Given the description of an element on the screen output the (x, y) to click on. 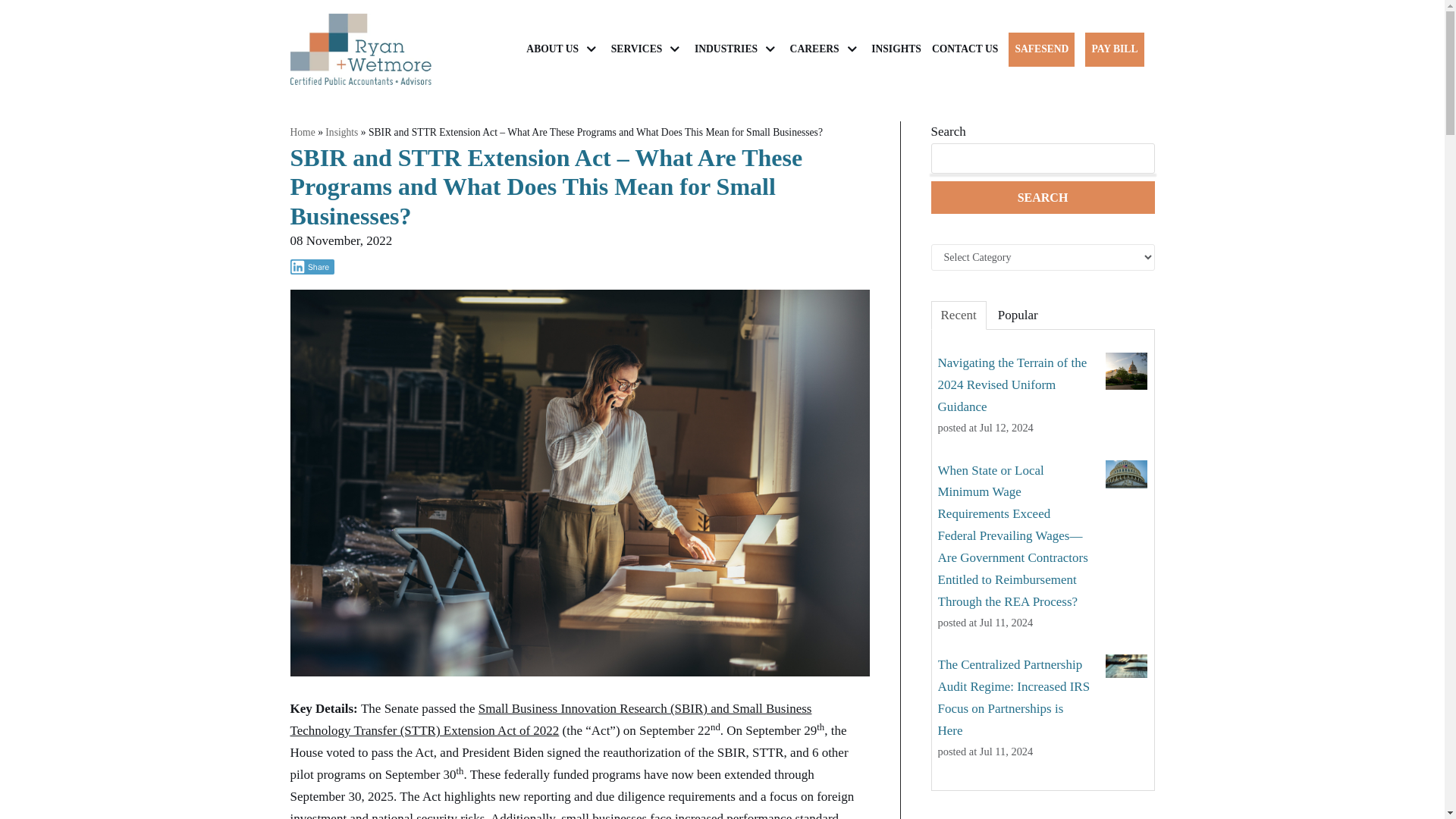
CAREERS (825, 49)
INDUSTRIES (736, 49)
SERVICES (647, 49)
SAFESEND (1041, 49)
Ryan Wetmore (359, 49)
INSIGHTS (895, 49)
CONTACT US (964, 49)
PAY BILL (1113, 49)
ABOUT US (562, 49)
